Given the description of an element on the screen output the (x, y) to click on. 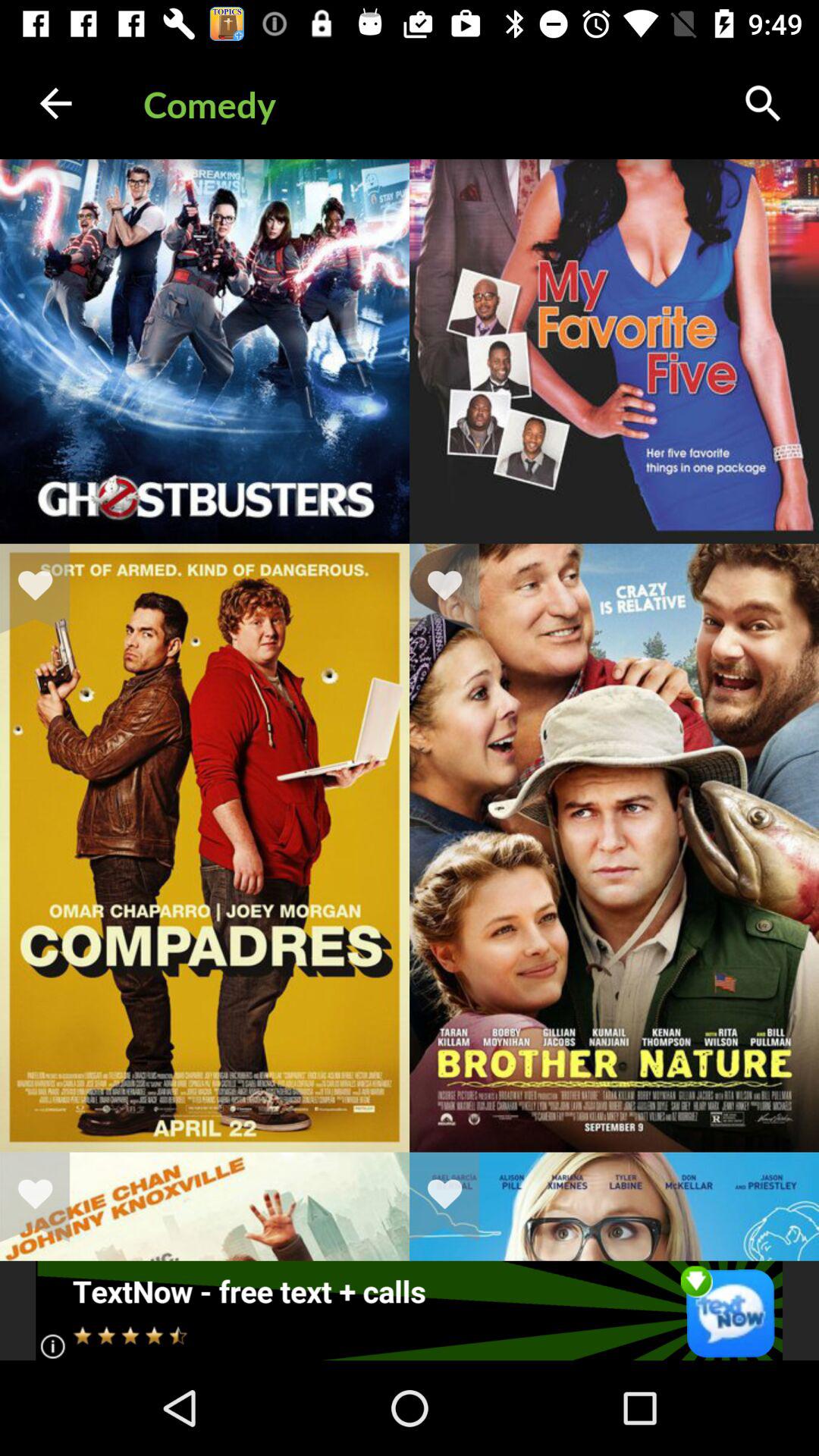
mark as favorite (454, 1197)
